Given the description of an element on the screen output the (x, y) to click on. 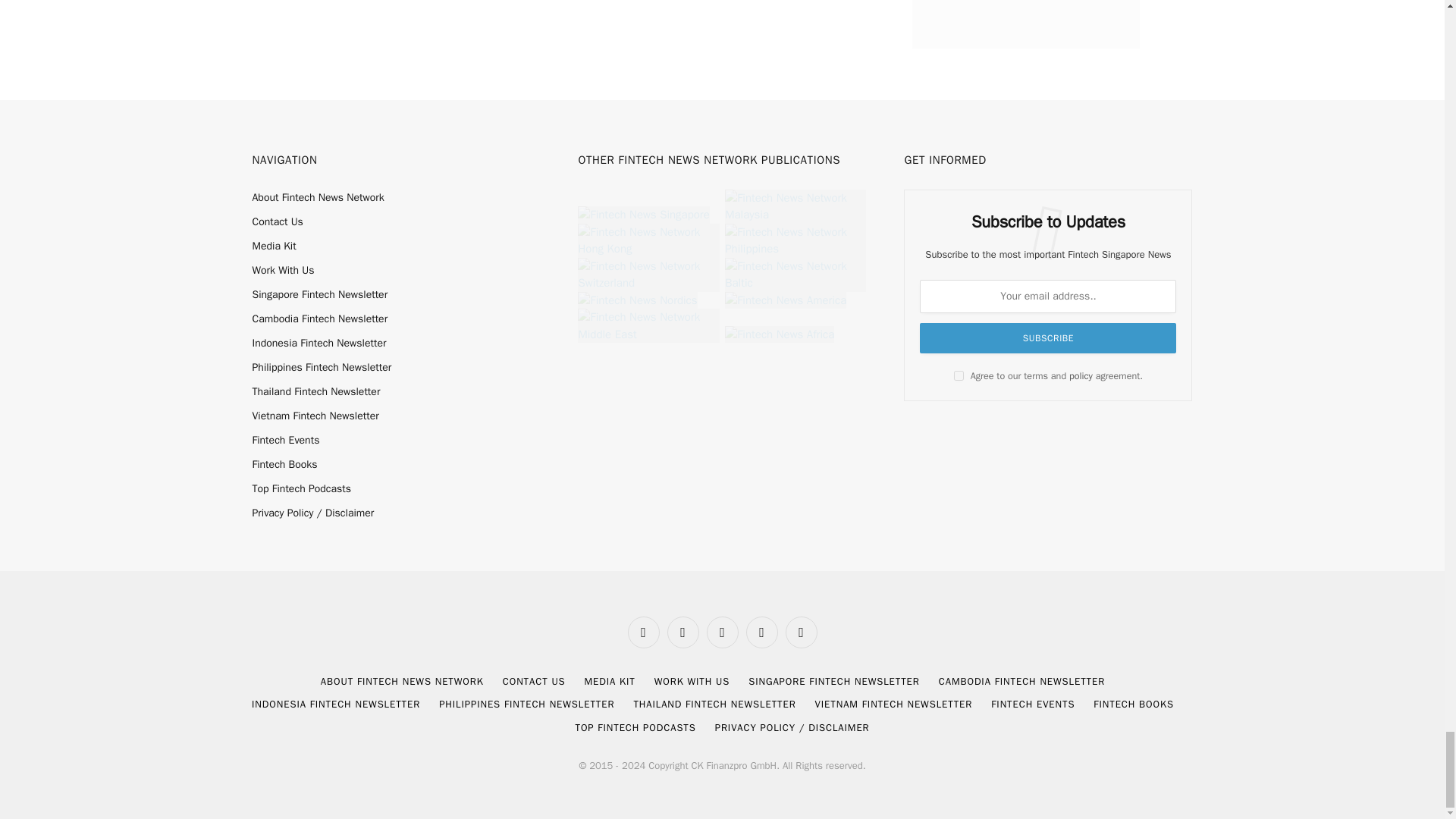
on (958, 375)
Subscribe (1048, 337)
